Given the description of an element on the screen output the (x, y) to click on. 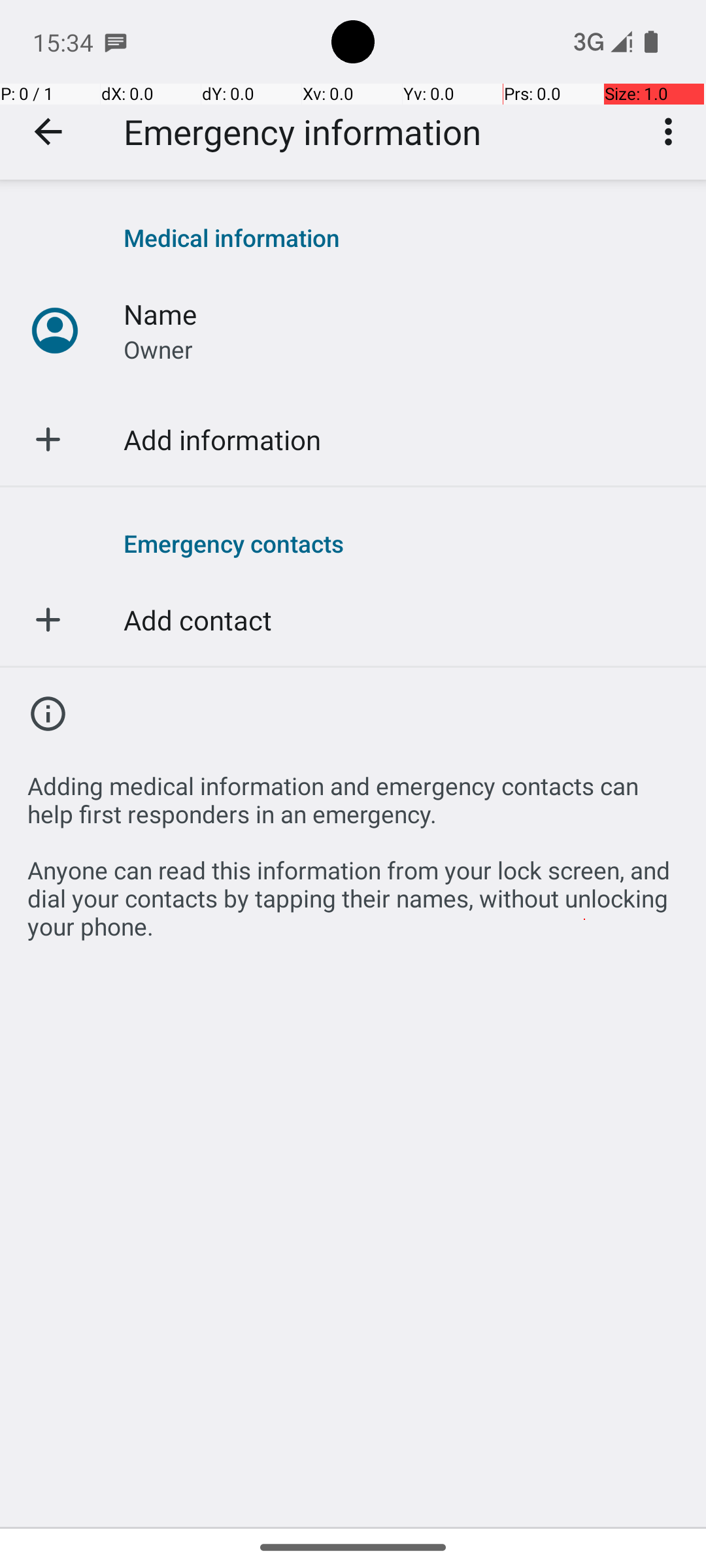
Emergency information Element type: android.widget.TextView (302, 131)
Medical information Element type: android.widget.TextView (400, 237)
Owner Element type: android.widget.TextView (157, 348)
Add information Element type: android.widget.TextView (221, 438)
Emergency contacts Element type: android.widget.TextView (400, 542)
Add contact Element type: android.widget.TextView (197, 619)
Adding medical information and emergency contacts can help first responders in an emergency.

Anyone can read this information from your lock screen, and dial your contacts by tapping their names, without unlocking your phone. Element type: android.widget.TextView (352, 848)
